Given the description of an element on the screen output the (x, y) to click on. 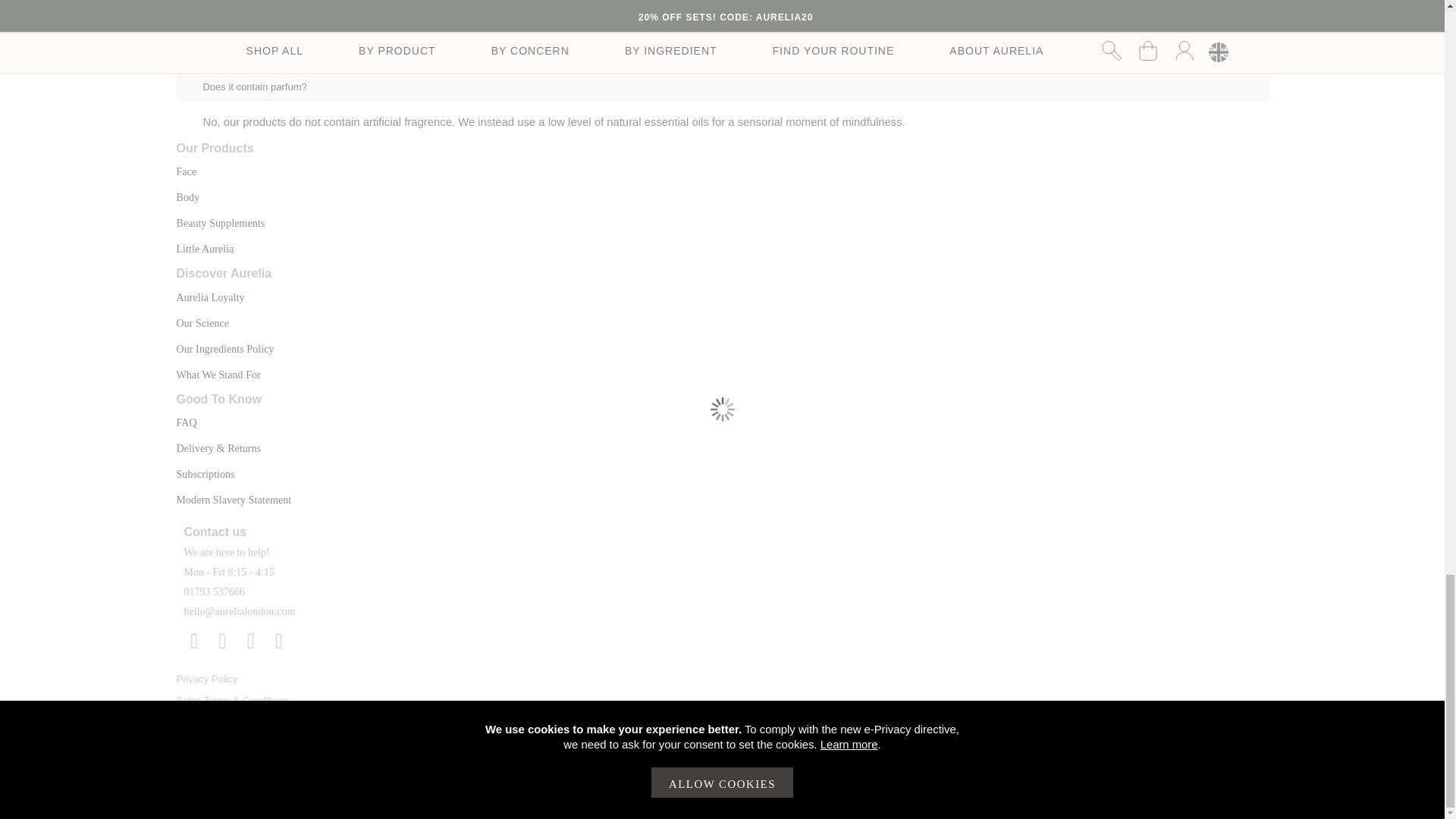
Body (187, 197)
Modern Slavery Statement (233, 500)
Faq's (186, 422)
Out Ingredients Policy (224, 348)
subscription (205, 473)
Gift (220, 223)
What We Stand For (218, 374)
Our Science (202, 323)
Face (186, 171)
Aurelia Loyalty (210, 297)
Little aurelia (204, 248)
